Given the description of an element on the screen output the (x, y) to click on. 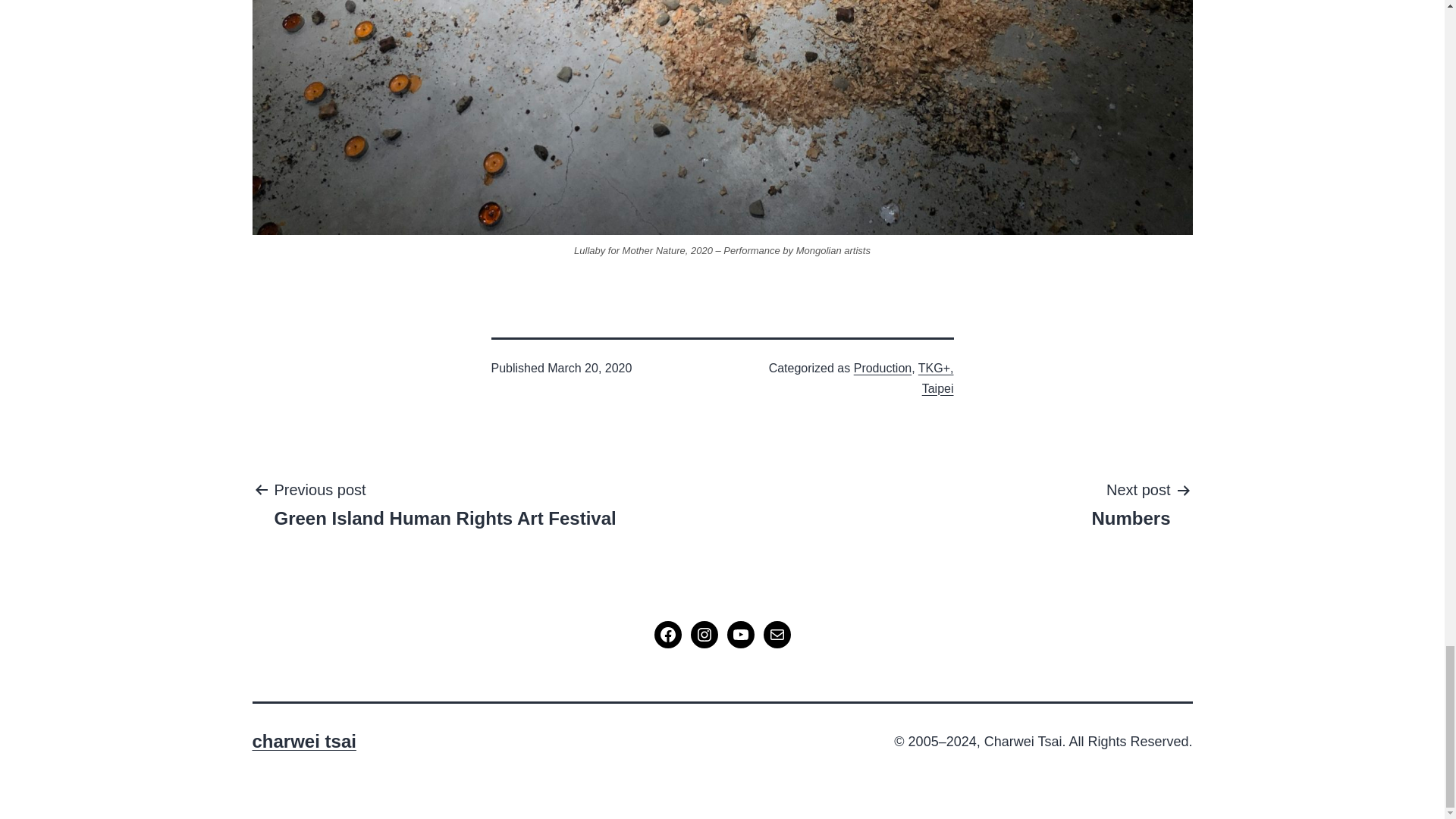
Production (882, 367)
Instagram (444, 502)
YouTube (703, 634)
Facebook (740, 634)
